Given the description of an element on the screen output the (x, y) to click on. 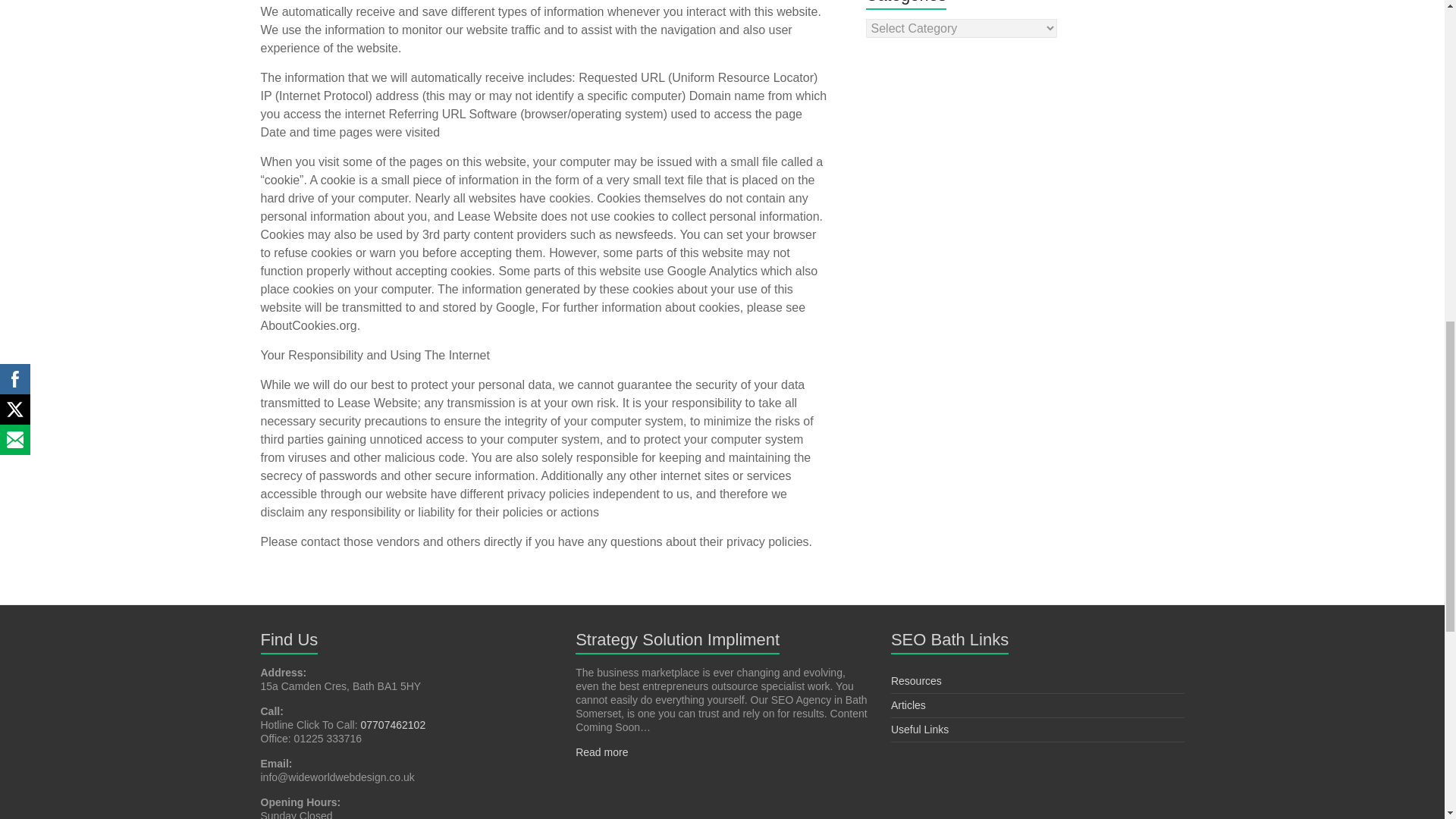
07707462102 (393, 725)
Resources (916, 680)
Useful Links (920, 729)
Articles (908, 705)
Strategy Solution Impliment (676, 639)
Strategy Solution Impliment (676, 639)
Read more (601, 752)
